Given the description of an element on the screen output the (x, y) to click on. 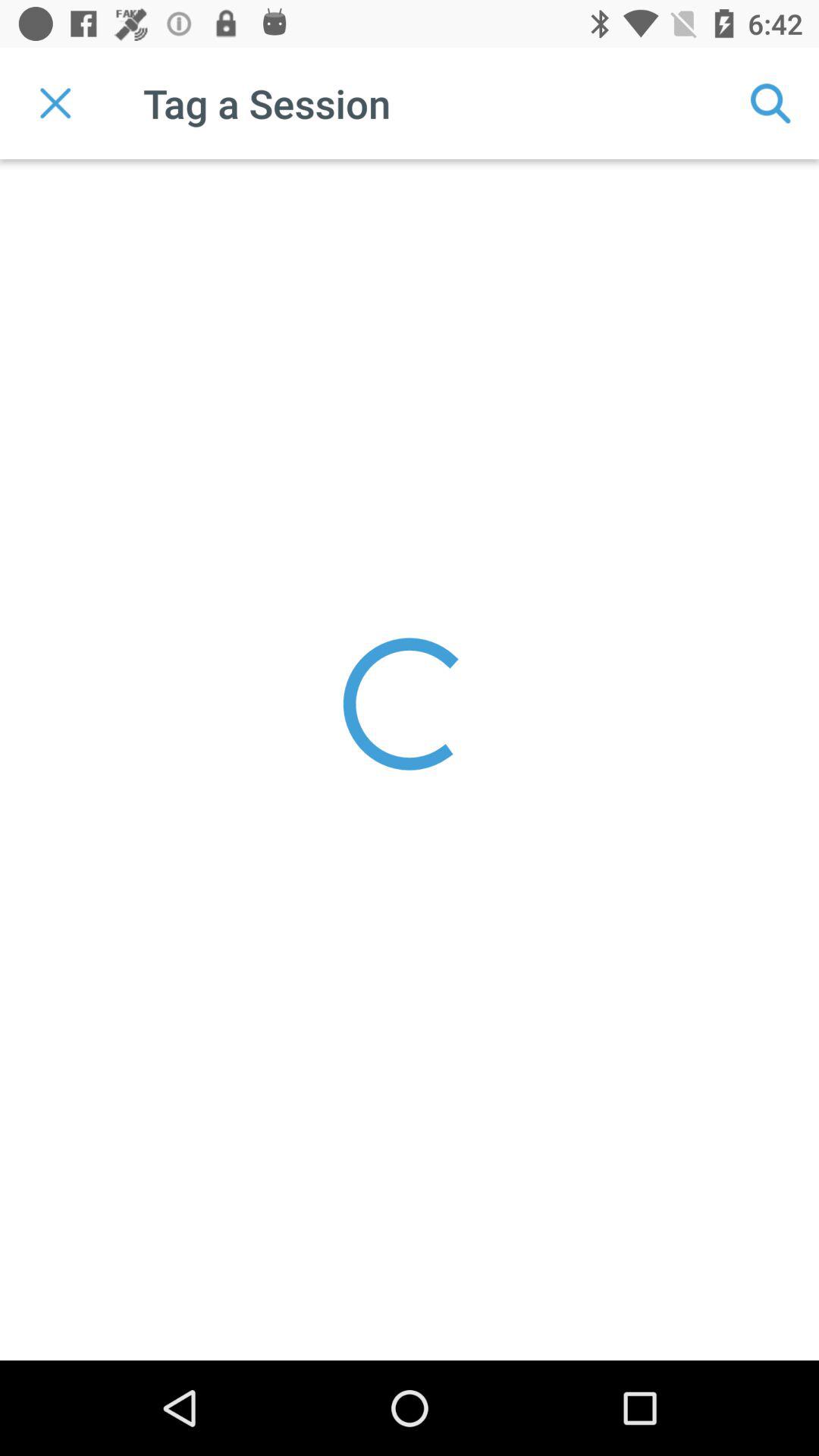
launch item to the right of tag a session (771, 103)
